Given the description of an element on the screen output the (x, y) to click on. 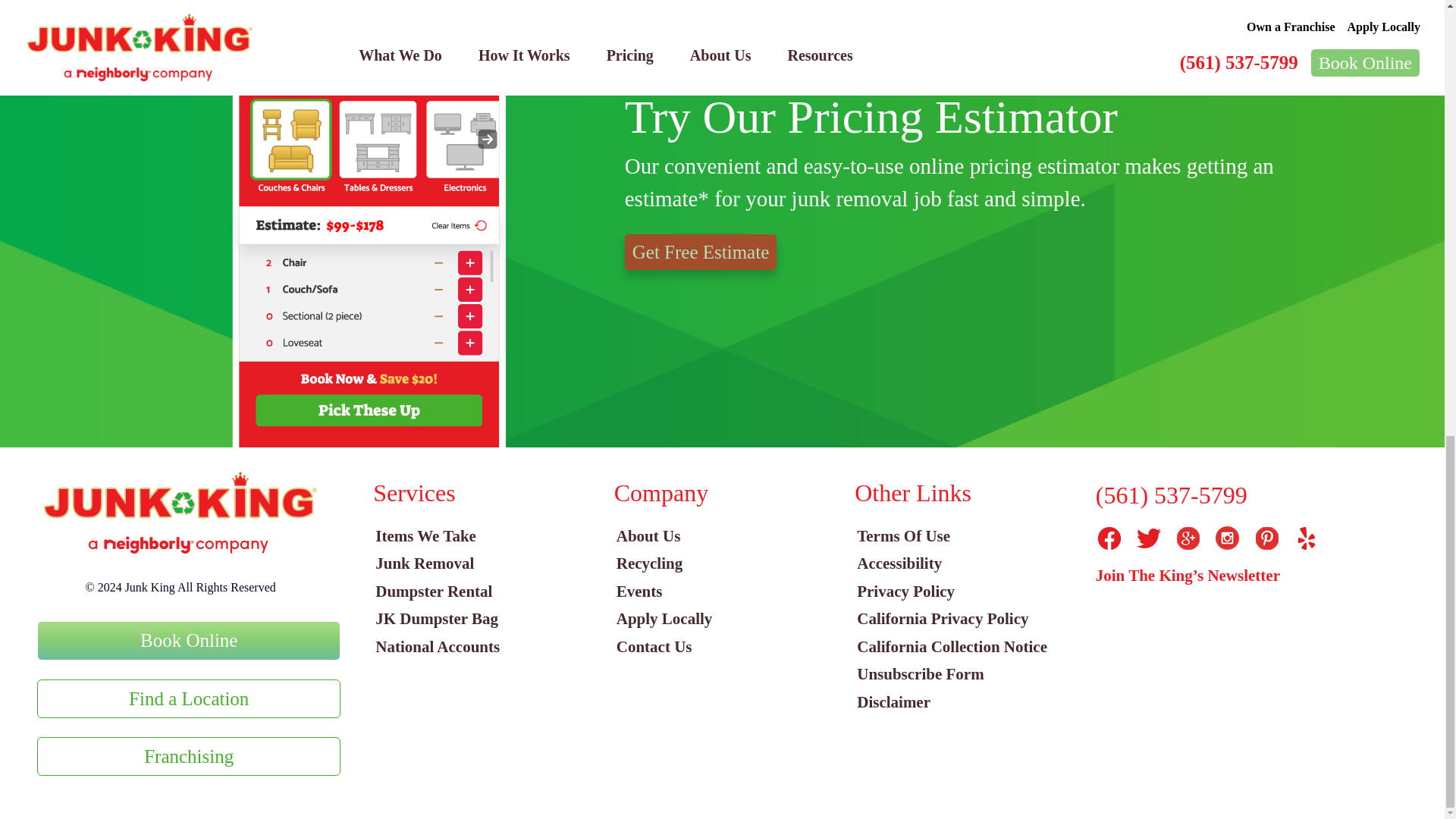
logo (180, 512)
Facebook (1109, 538)
